Given the description of an element on the screen output the (x, y) to click on. 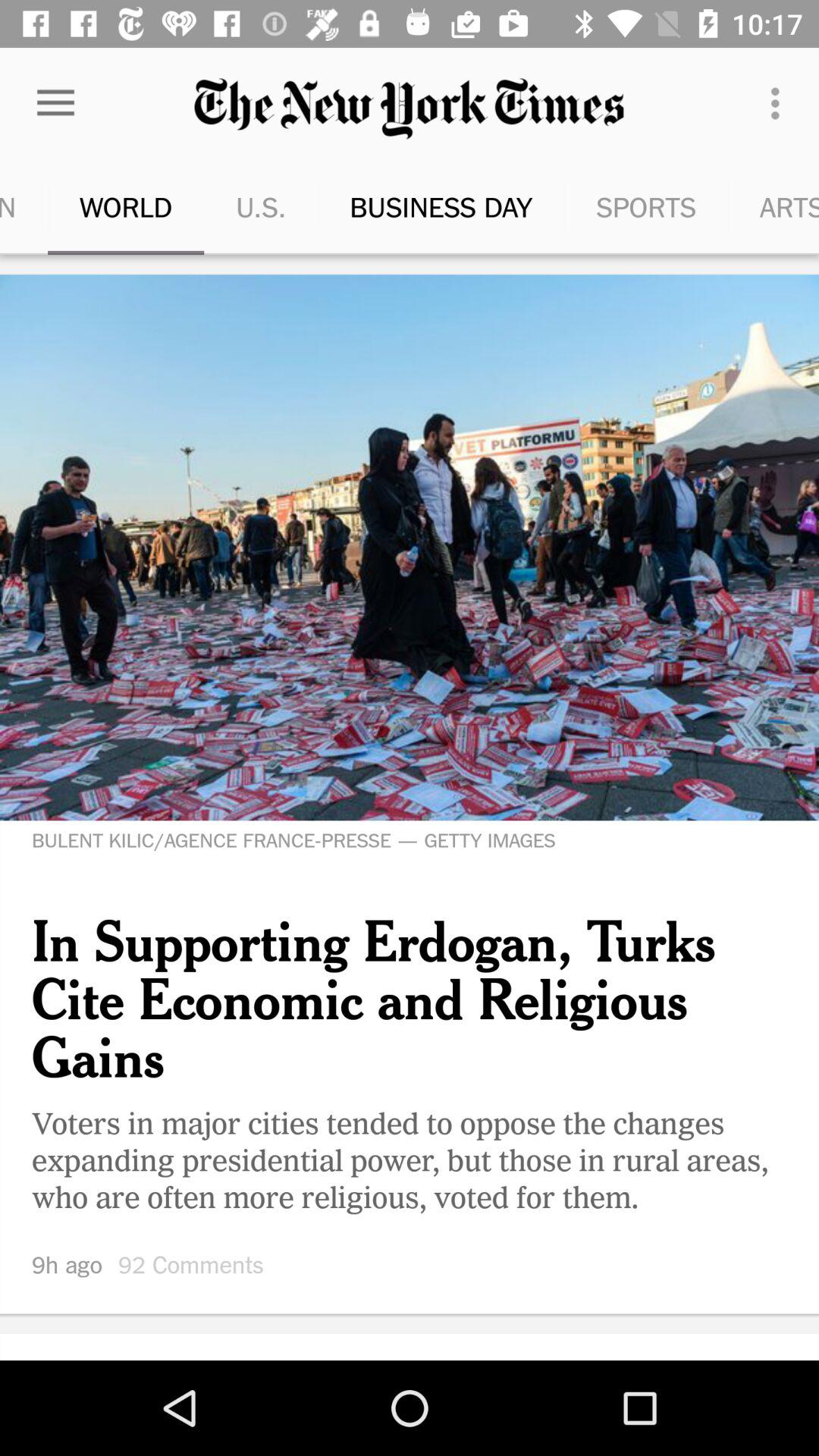
press the item next to the sports icon (779, 103)
